Given the description of an element on the screen output the (x, y) to click on. 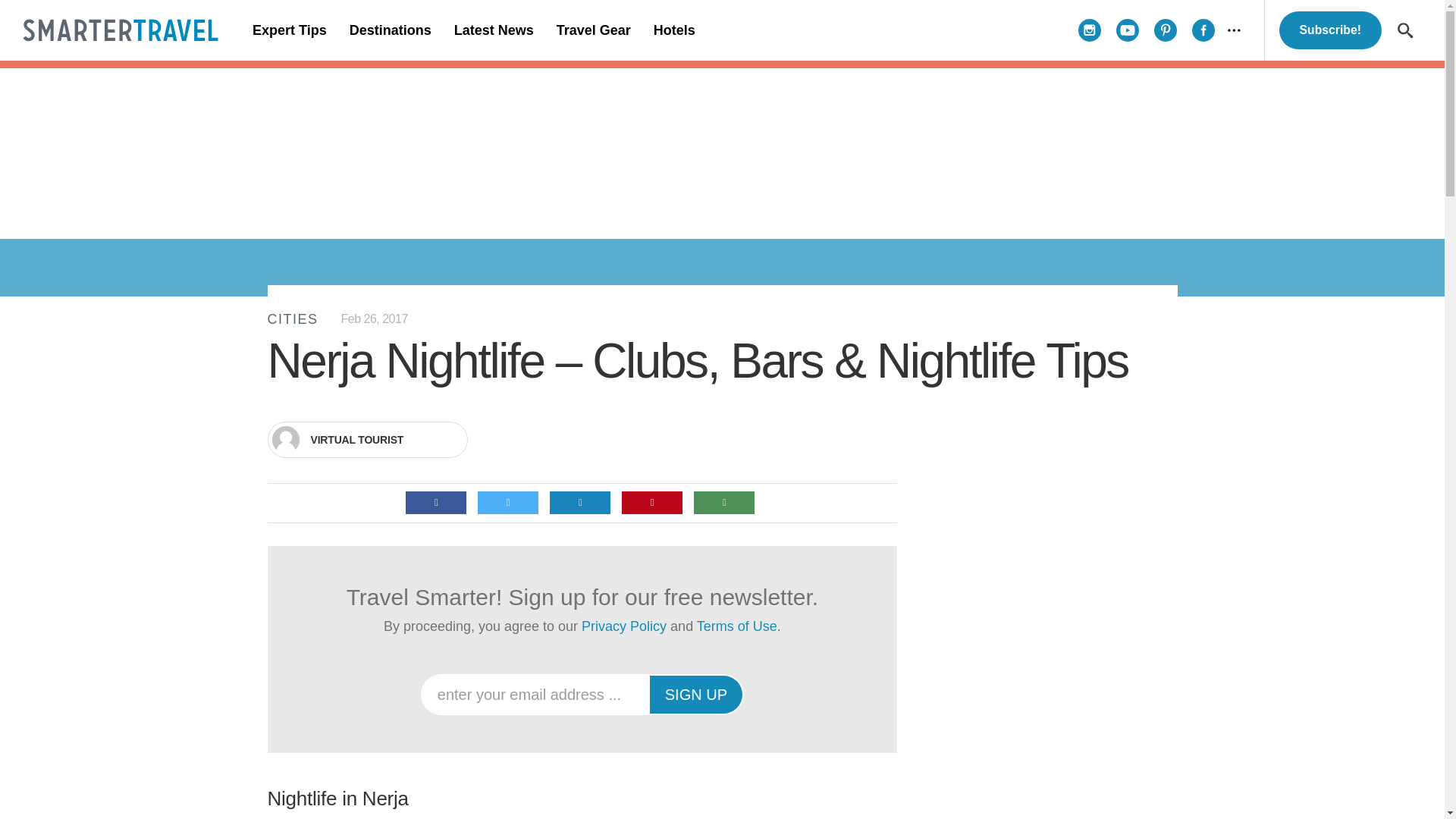
Expert Tips (289, 30)
Hotels (674, 30)
Destinations (389, 30)
Travel Gear (593, 30)
Subscribe! (1330, 30)
Latest News (493, 30)
